Given the description of an element on the screen output the (x, y) to click on. 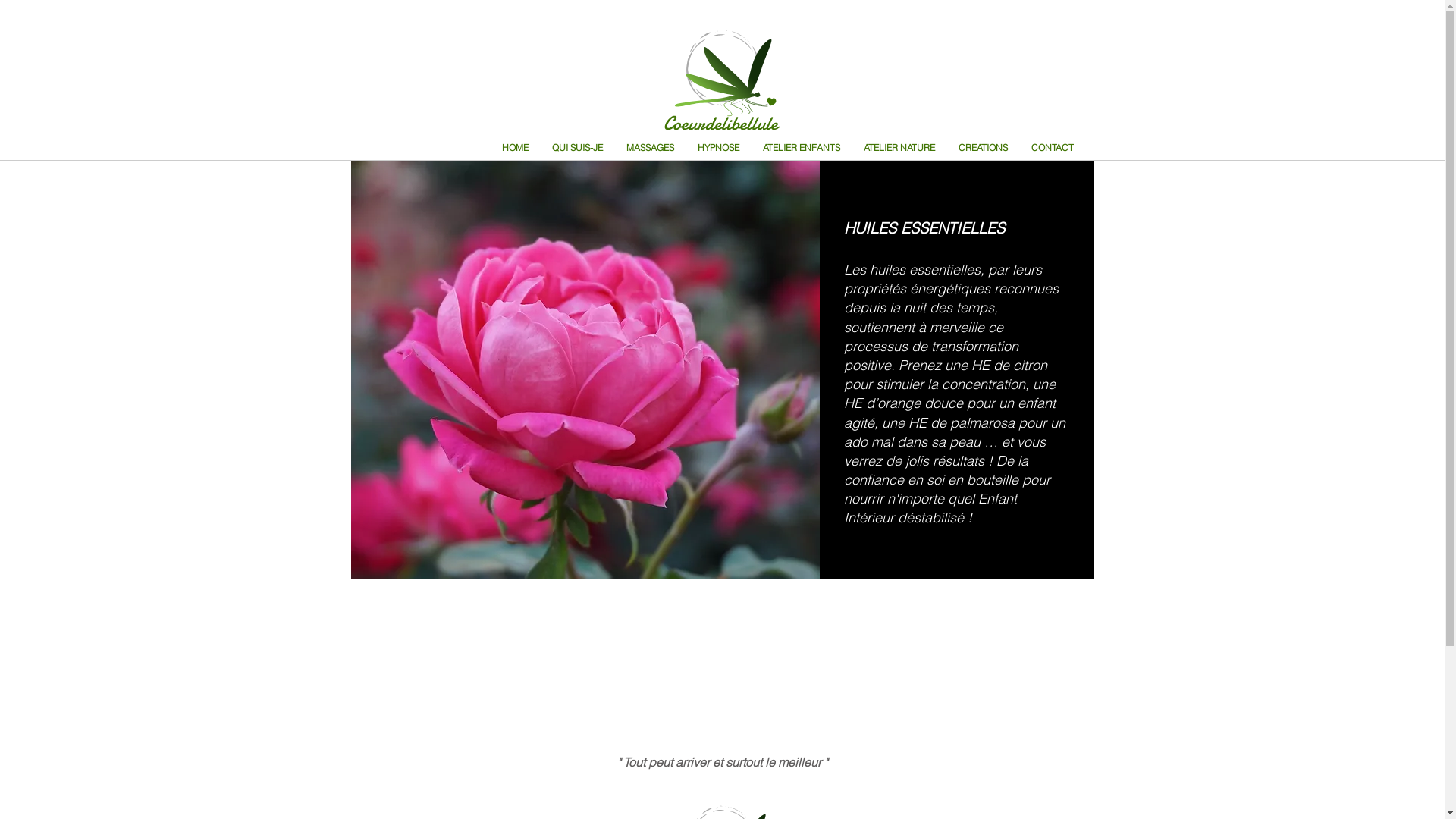
ATELIER NATURE Element type: text (897, 147)
HYPNOSE Element type: text (717, 147)
CREATIONS Element type: text (982, 147)
ATELIER ENFANTS Element type: text (800, 147)
CONTACT Element type: text (1052, 147)
MASSAGES Element type: text (649, 147)
QUI SUIS-JE Element type: text (576, 147)
HOME Element type: text (514, 147)
